Given the description of an element on the screen output the (x, y) to click on. 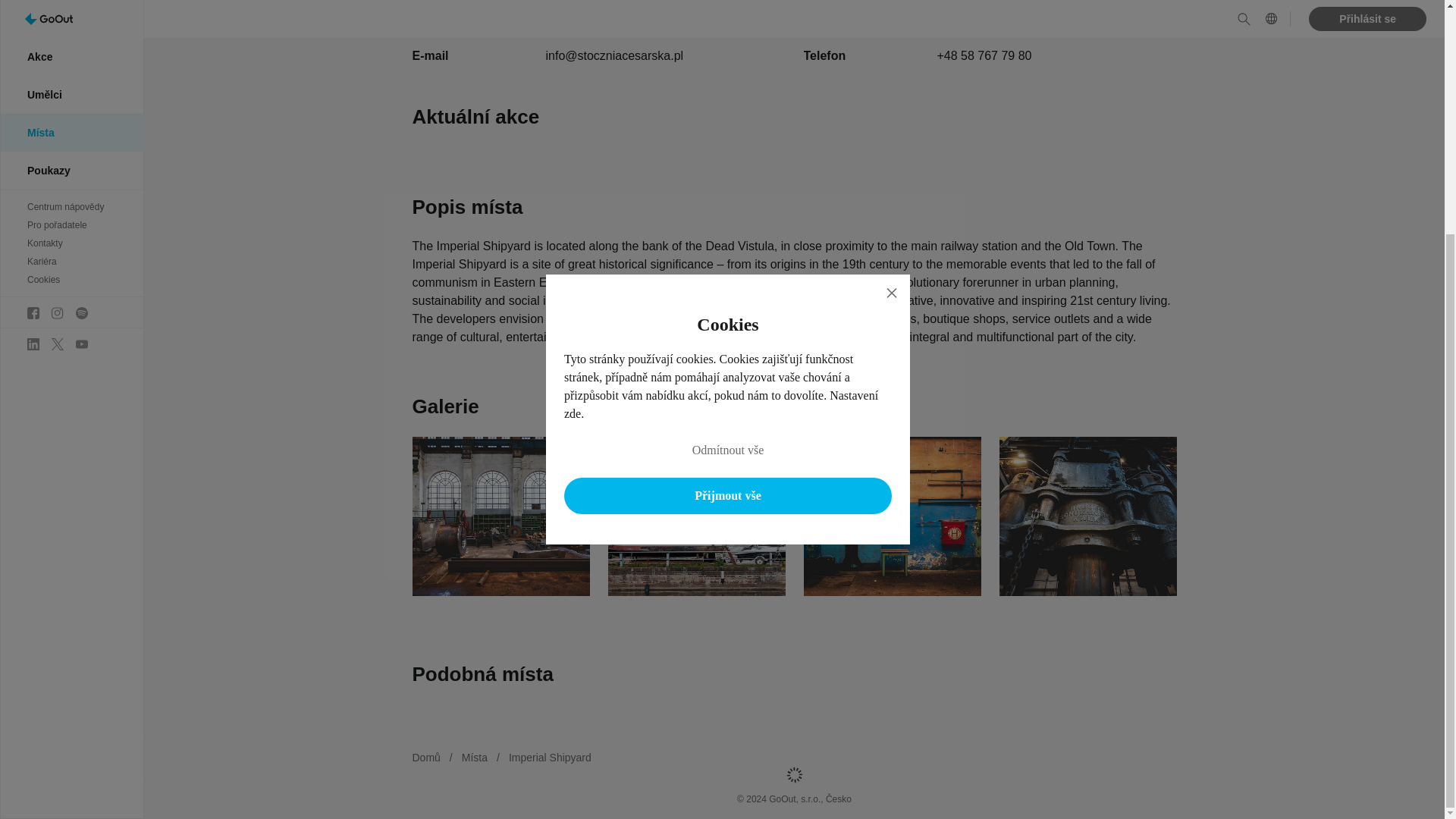
www.stoczniacesarska.pl... (1008, 18)
Imperial Shipyard (549, 757)
